Given the description of an element on the screen output the (x, y) to click on. 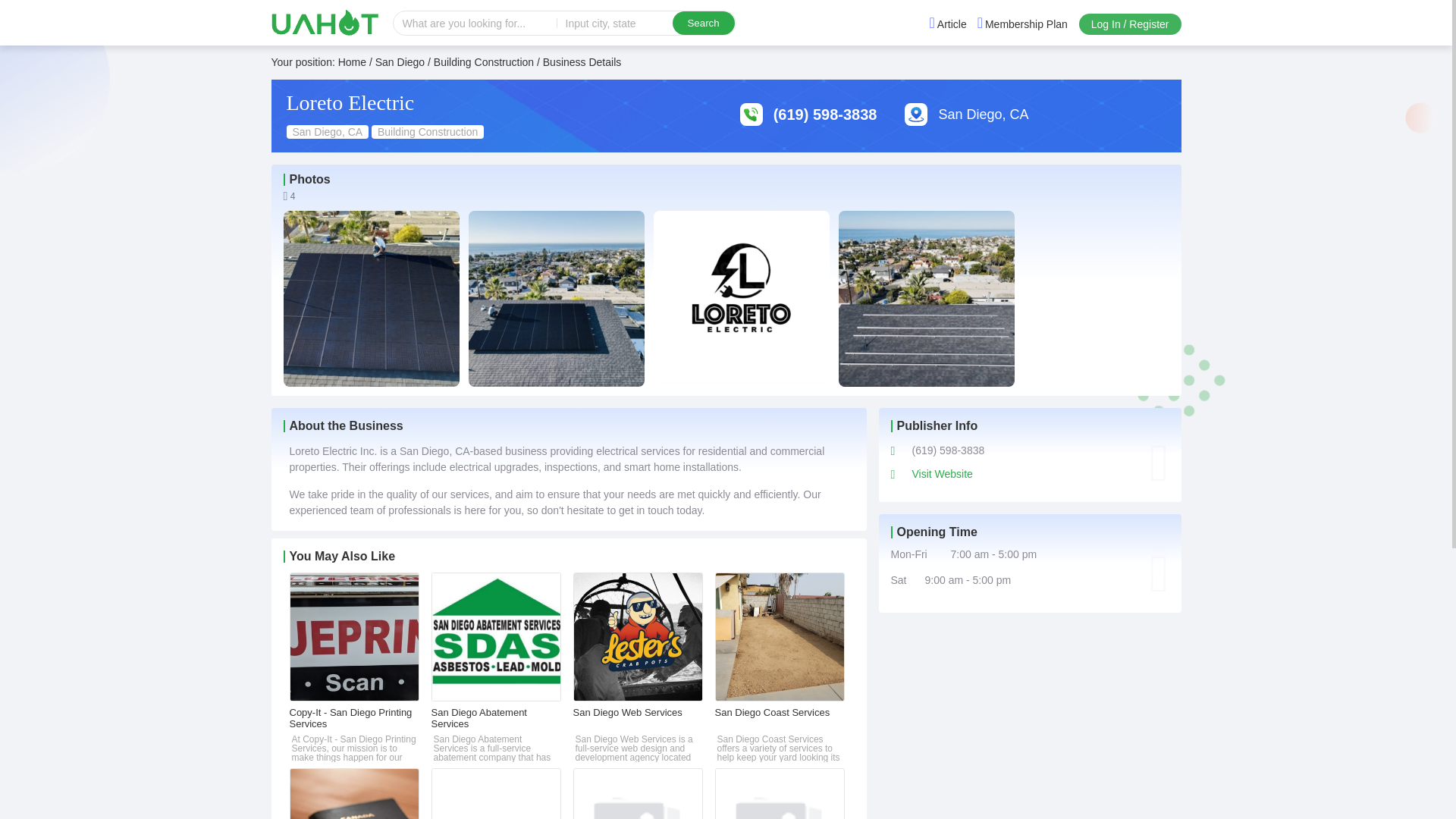
San Diego Immigration Services (354, 793)
Home (351, 61)
Article (948, 24)
Building Construction (483, 61)
Membership Plan (1021, 24)
San Diego (400, 61)
Visit Website (941, 473)
uahot.com (324, 22)
San Diego Electric Company (779, 793)
Building Construction (483, 61)
